Given the description of an element on the screen output the (x, y) to click on. 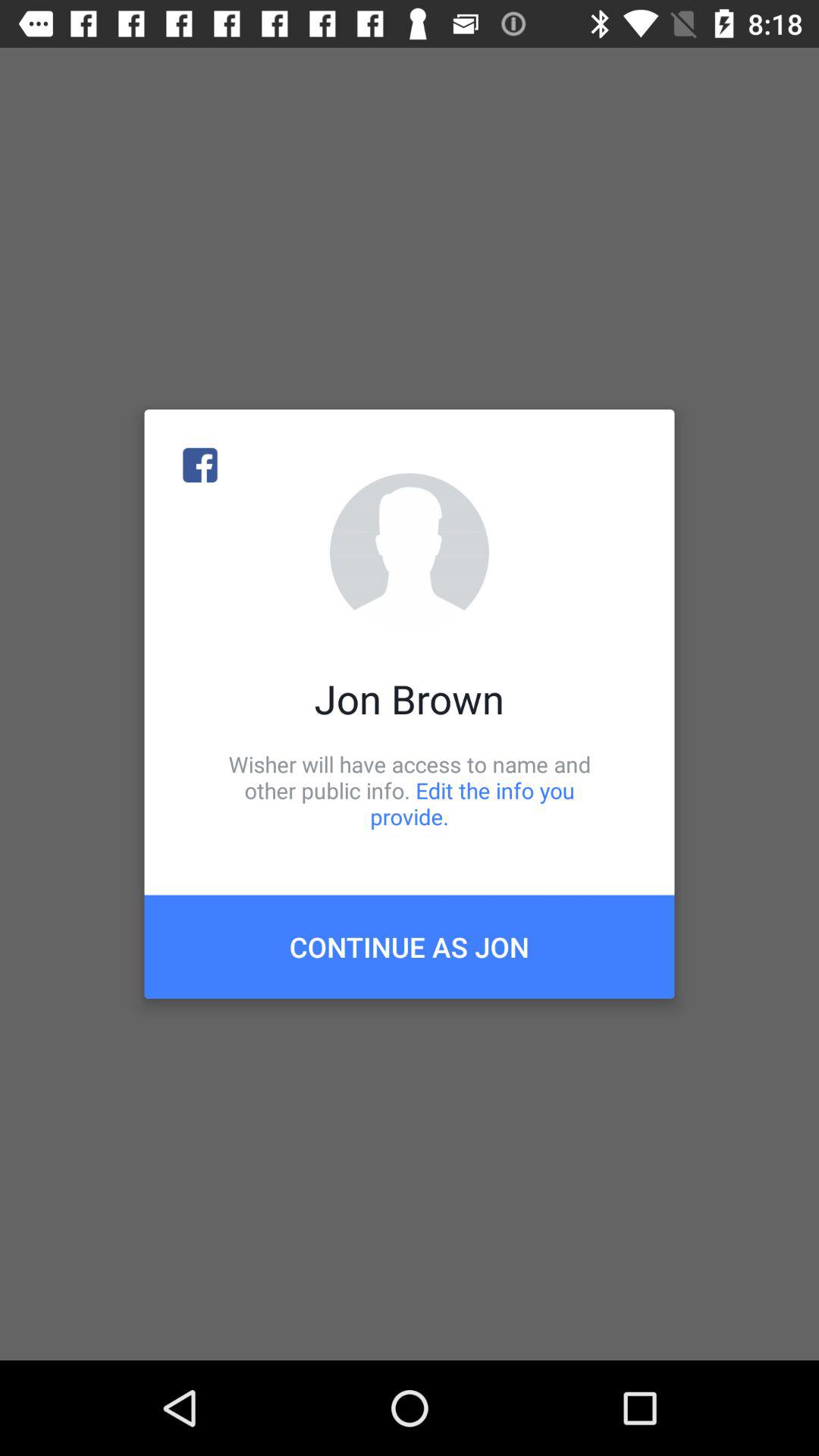
turn on icon above the continue as jon icon (409, 790)
